Given the description of an element on the screen output the (x, y) to click on. 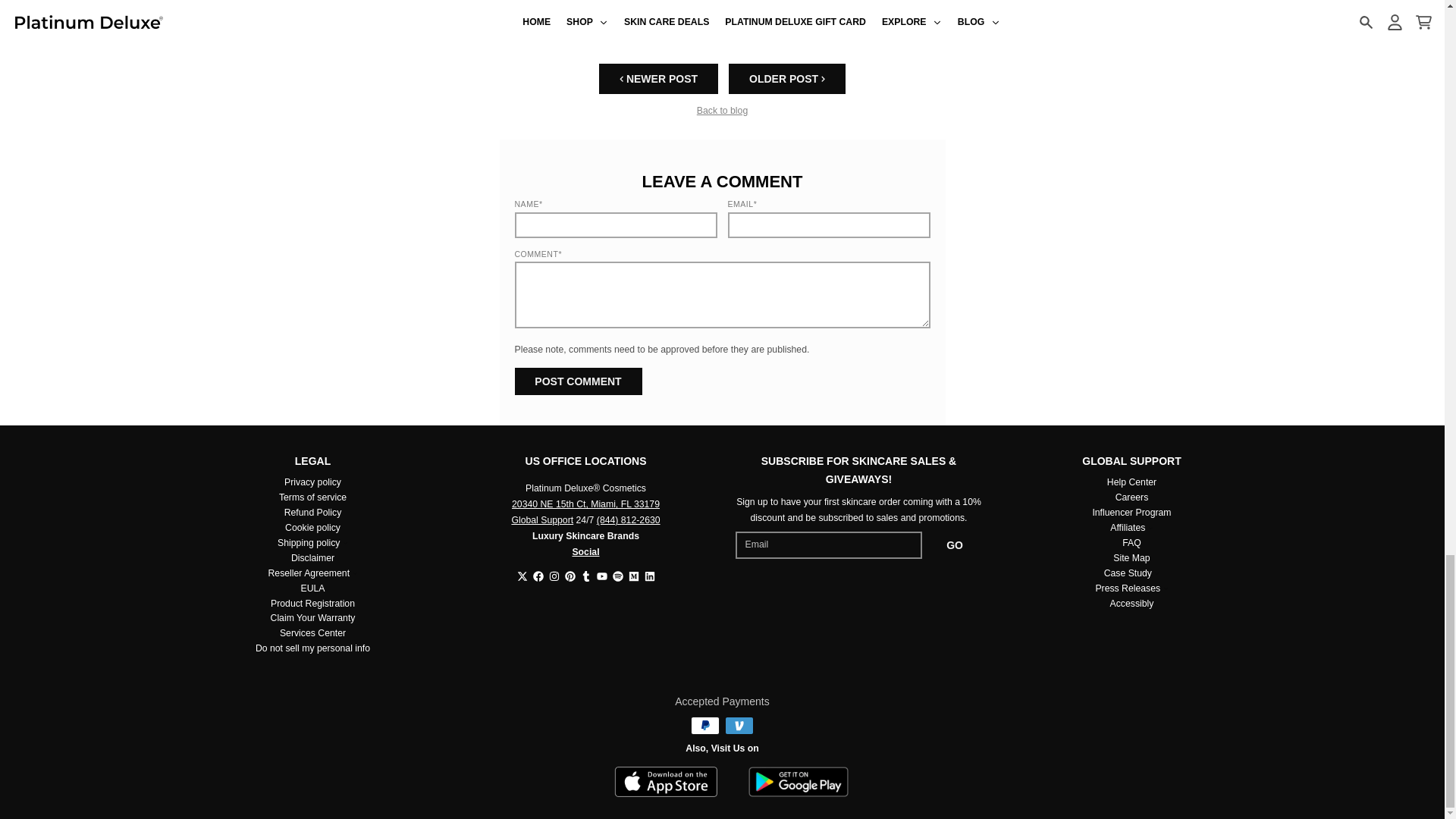
YouTube - Platinum Deluxe Cosmetics (601, 575)
Post comment (577, 380)
LinkedIn - Platinum Deluxe Cosmetics (650, 575)
Spotify - Platinum Deluxe Cosmetics (617, 575)
Medium - Platinum Deluxe Cosmetics (633, 575)
Instagram - Platinum Deluxe Cosmetics (553, 575)
Tumblr - Platinum Deluxe Cosmetics (585, 575)
Twitter - Platinum Deluxe Cosmetics (521, 575)
Facebook - Platinum Deluxe Cosmetics (537, 575)
Pinterest - Platinum Deluxe Cosmetics (569, 575)
